Given the description of an element on the screen output the (x, y) to click on. 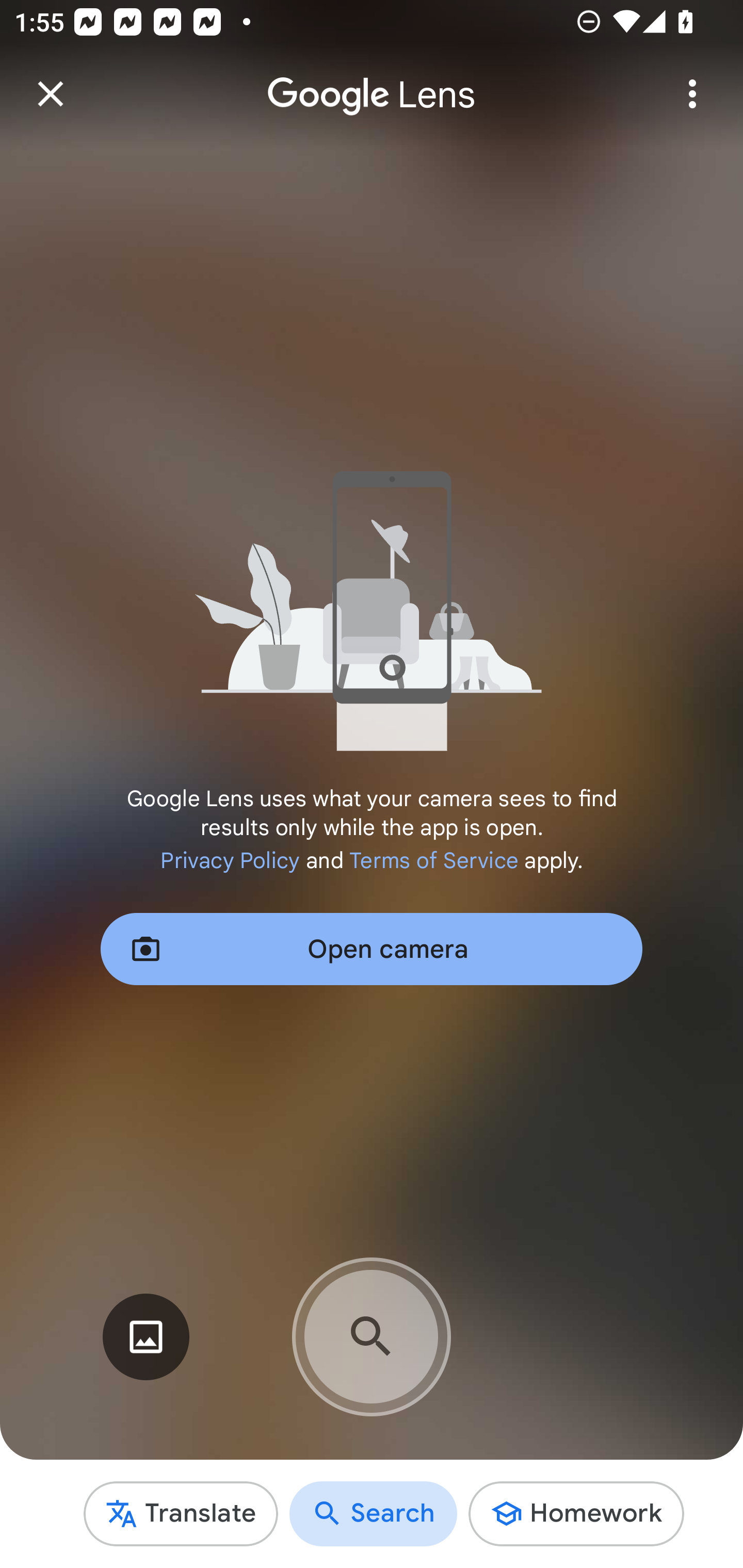
Google Lens Lens (371, 80)
Close (50, 94)
More options (692, 94)
Open camera (371, 949)
Camera search (371, 1336)
Select an image from gallery (145, 1336)
Translate Switch to Translate mode (180, 1513)
Search Switch to Search mode (372, 1513)
Homework Switch to Homework mode (575, 1513)
